Given the description of an element on the screen output the (x, y) to click on. 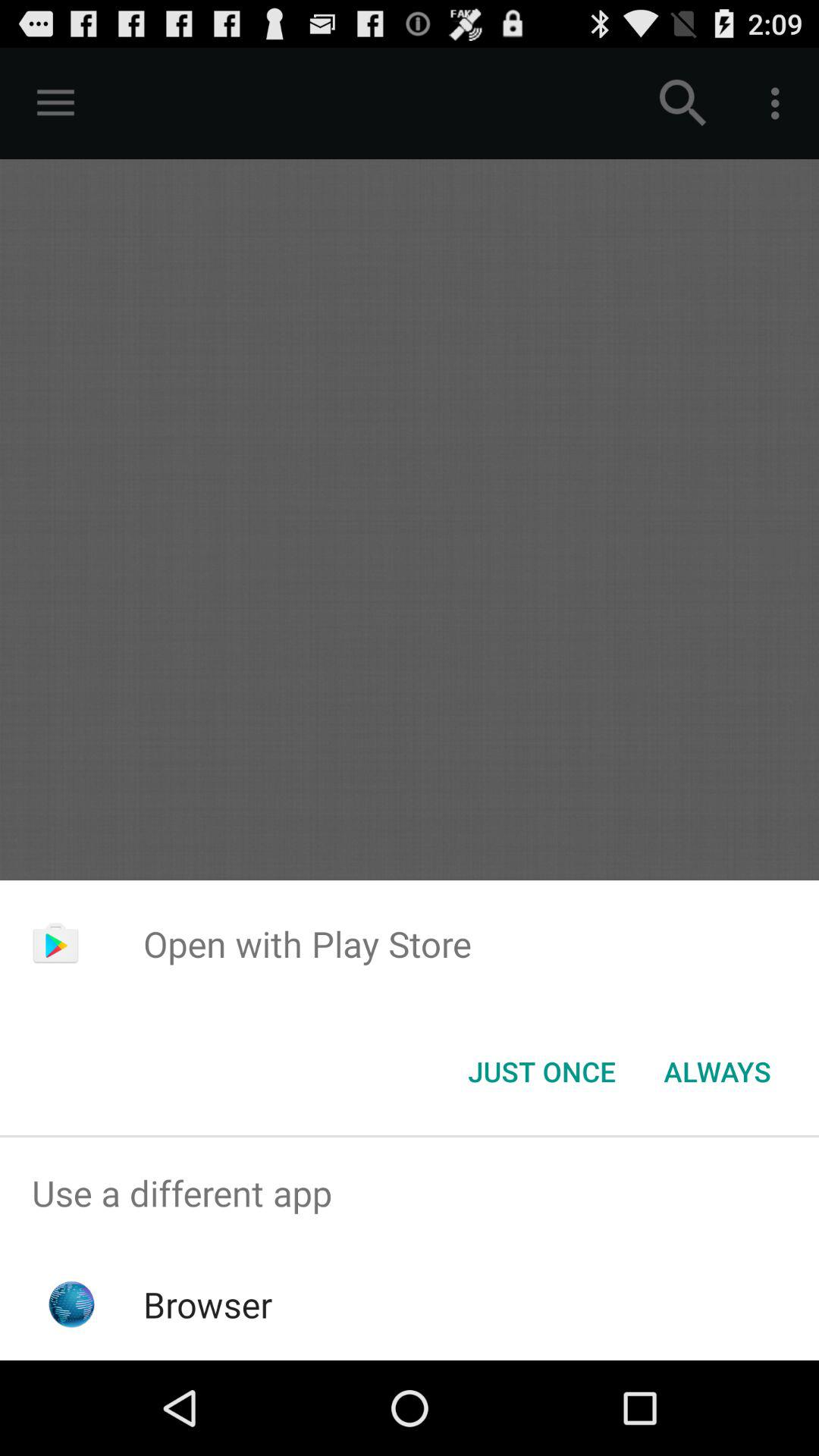
flip to browser icon (207, 1304)
